Given the description of an element on the screen output the (x, y) to click on. 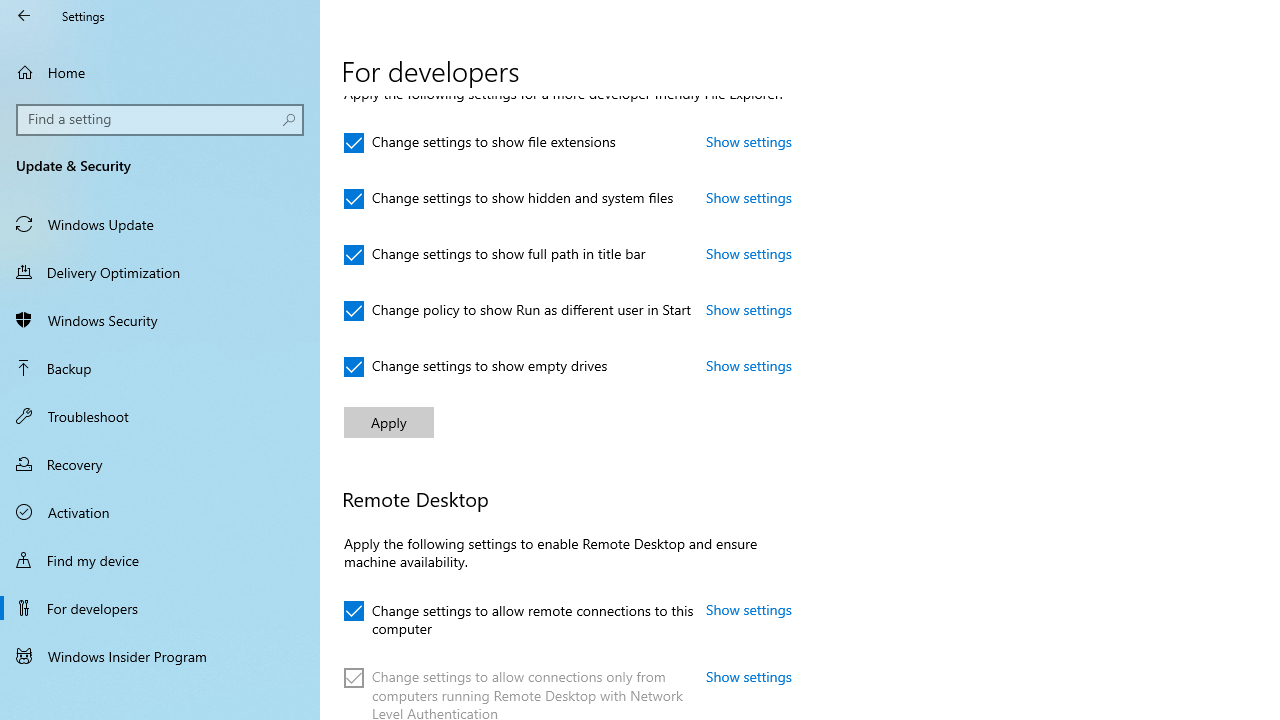
Find my device (160, 559)
Show settings: Change settings to show file extensions (749, 141)
Back (24, 15)
Activation (160, 511)
Windows Insider Program (160, 655)
Change settings to show full path in title bar (495, 254)
Home (160, 71)
Change policy to show Run as different user in Start (517, 310)
Troubleshoot (160, 415)
Show settings: Change settings to show empty drives (749, 365)
Backup (160, 367)
